Given the description of an element on the screen output the (x, y) to click on. 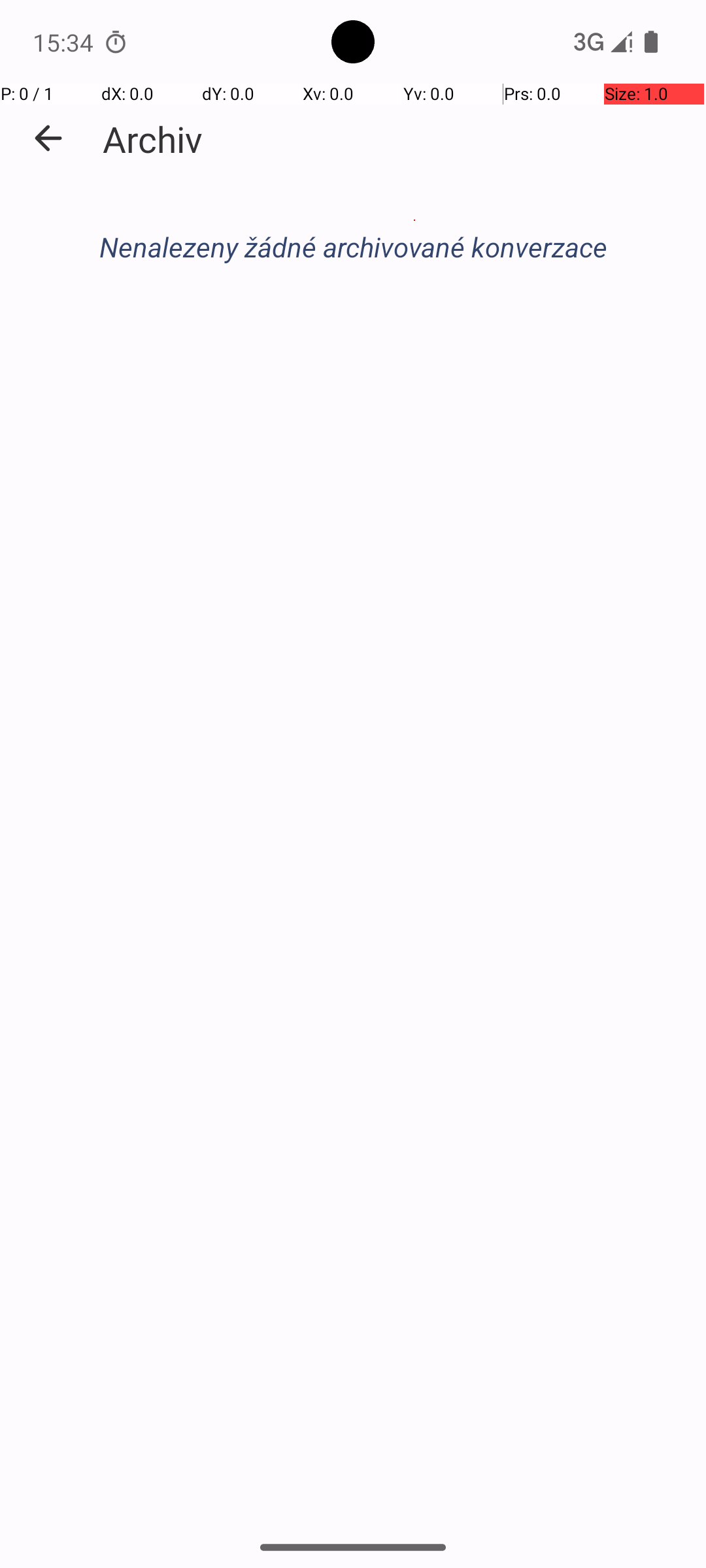
Zpět Element type: android.widget.ImageButton (48, 138)
Archiv Element type: android.widget.TextView (152, 138)
Nenalezeny žádné archivované konverzace Element type: android.widget.TextView (353, 246)
